Given the description of an element on the screen output the (x, y) to click on. 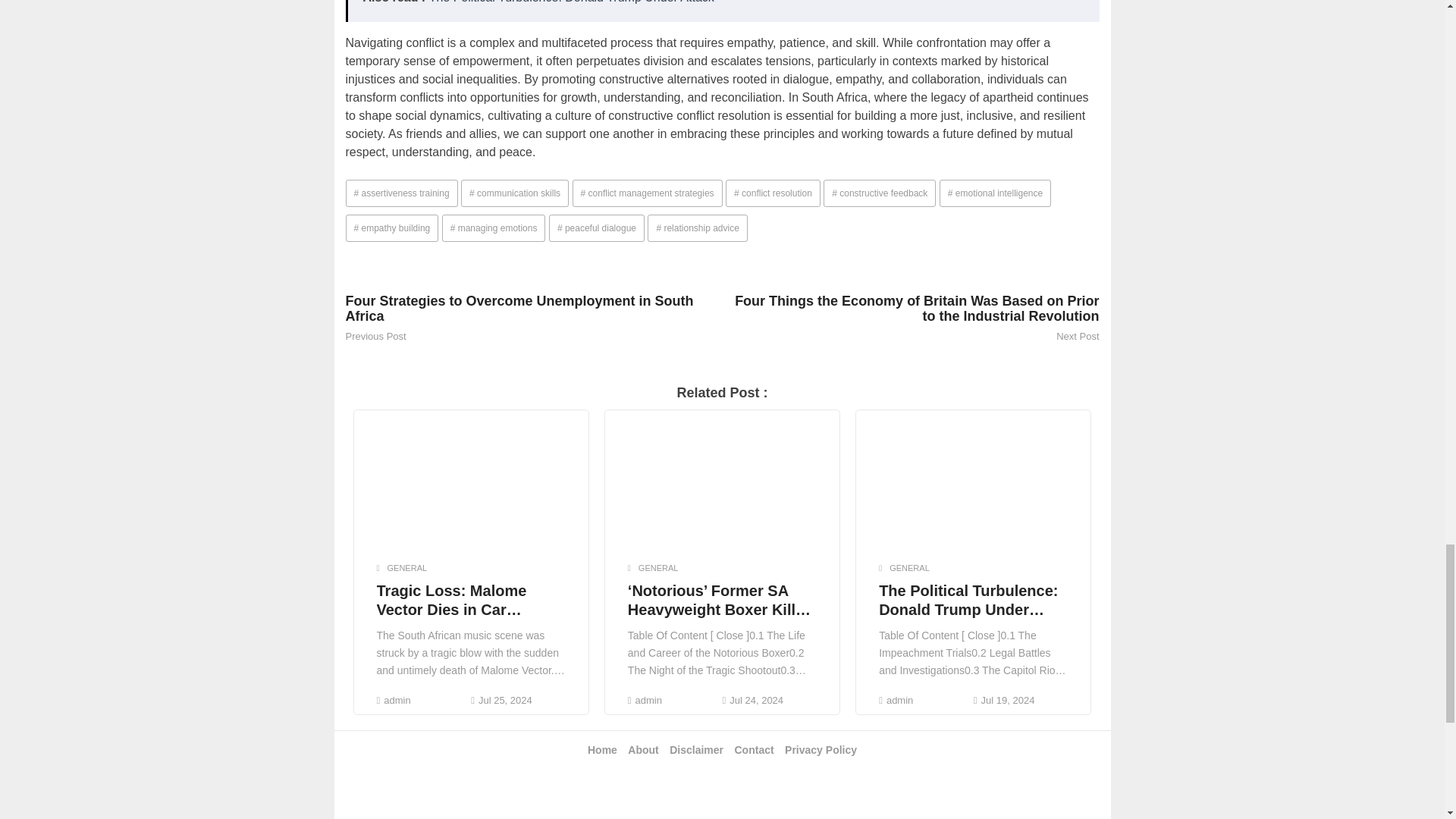
Four Strategies to Overcome Unemployment in South Africa (534, 308)
Advertisement (721, 797)
The Political Turbulence: Donald Trump Under Attack (571, 2)
